Given the description of an element on the screen output the (x, y) to click on. 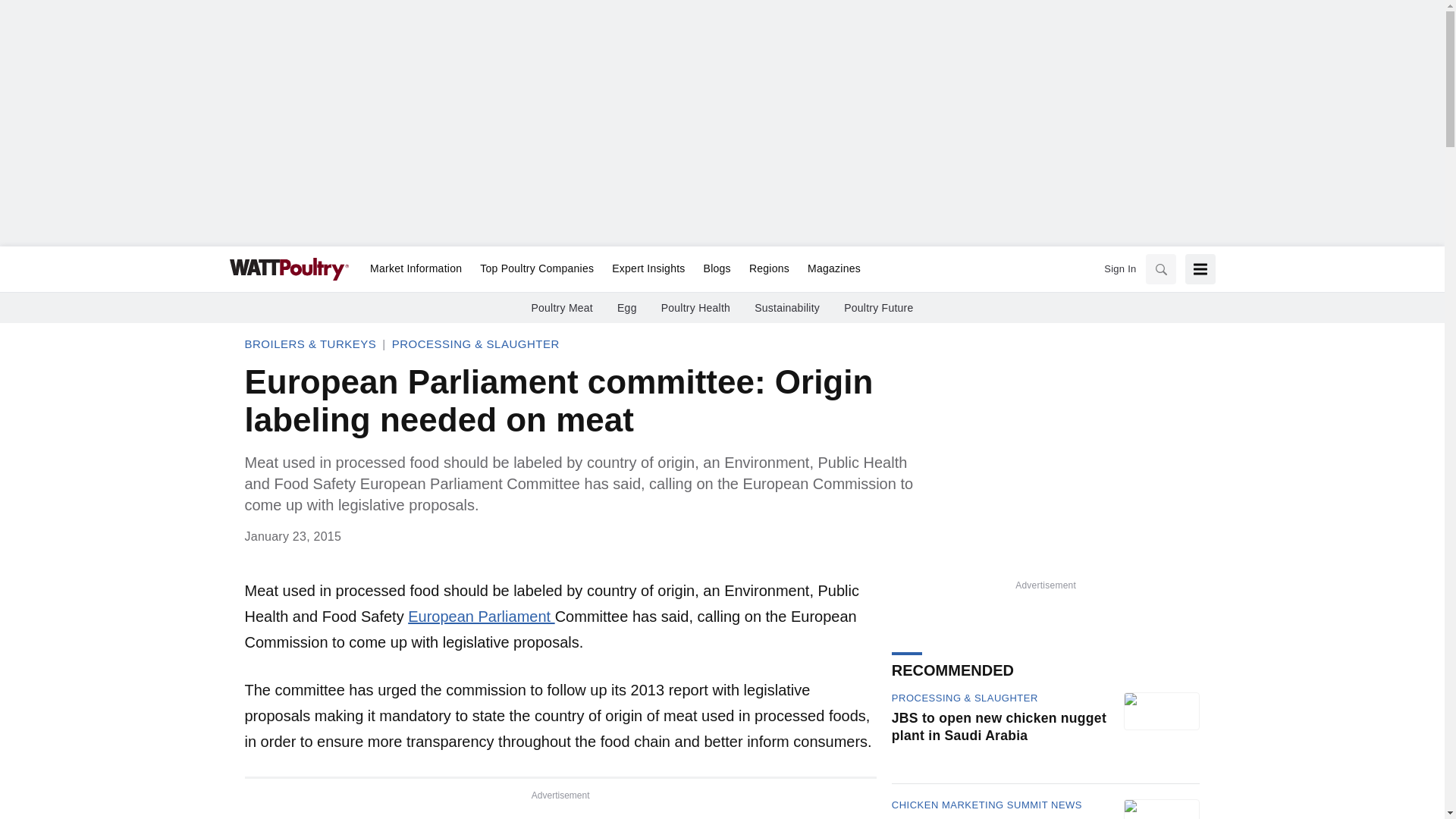
Top Poultry Companies (536, 269)
Poultry Health (695, 307)
Poultry Meat (561, 307)
Market Information (415, 269)
Sign In (480, 616)
Poultry Future (1119, 268)
Regions (878, 307)
Blogs (768, 269)
Magazines (716, 269)
Sustainability (828, 269)
Egg (786, 307)
Expert Insights (627, 307)
